Given the description of an element on the screen output the (x, y) to click on. 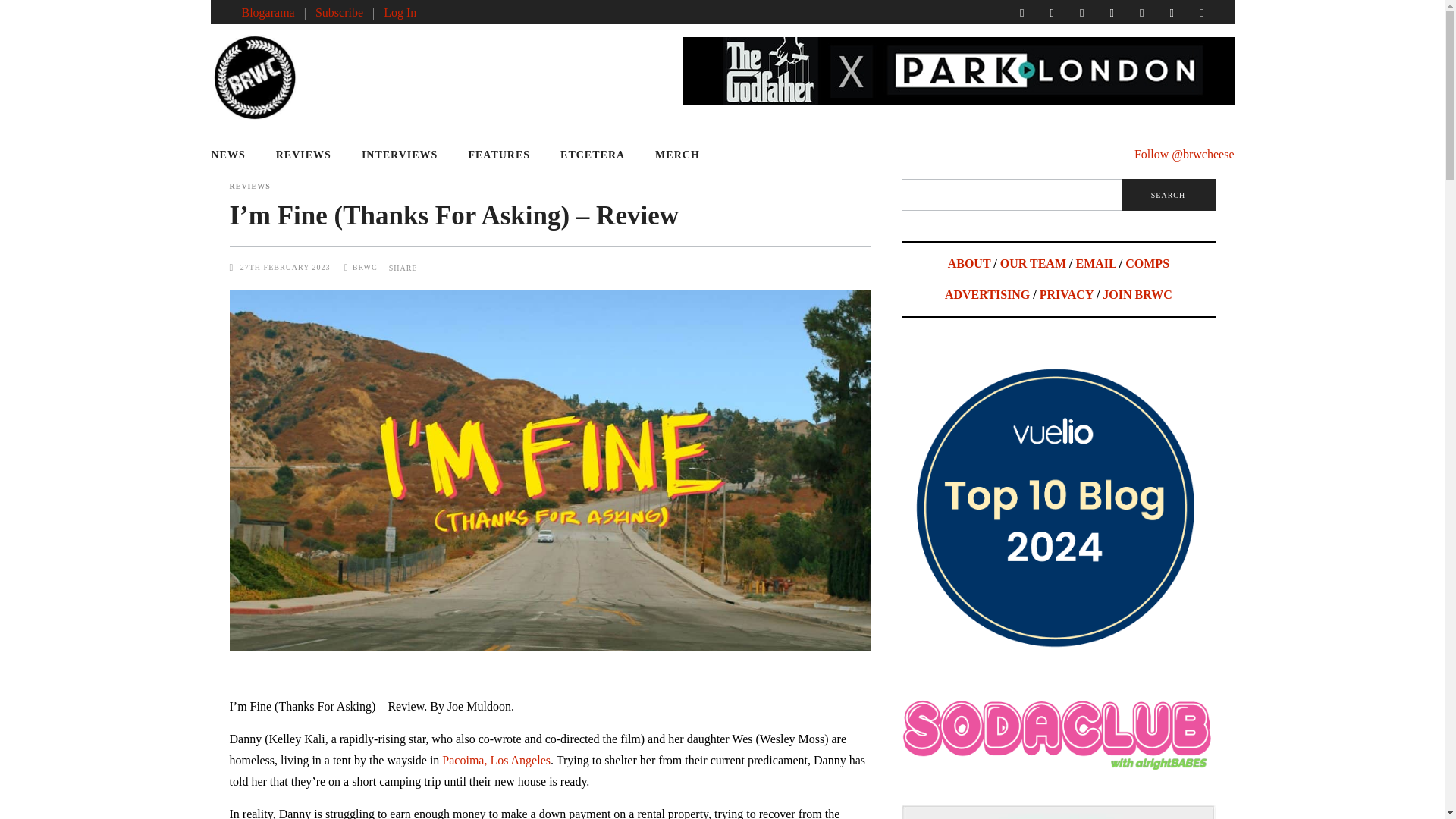
FEATURES (498, 154)
INTERVIEWS (399, 154)
Log In (400, 11)
MERCH (677, 154)
Blogarama.com - Follow BRWC on Blogarama (267, 11)
Subscribe (338, 11)
NEWS (235, 154)
Blogarama (267, 11)
ETCETERA (592, 154)
REVIEWS (303, 154)
